Given the description of an element on the screen output the (x, y) to click on. 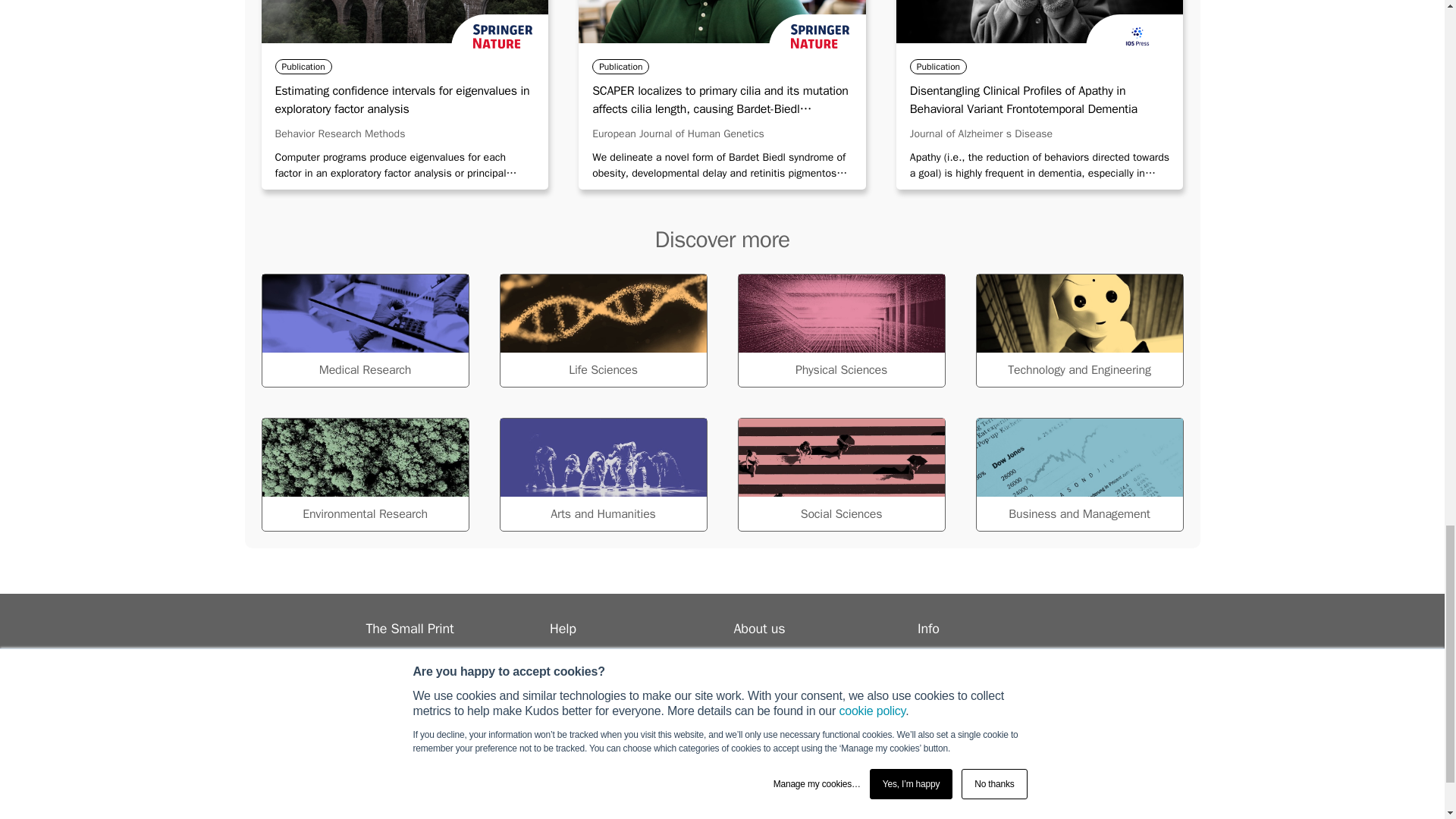
Contact us (577, 708)
Technology and Engineering (1078, 330)
Journal of Alzheimer s Disease (981, 133)
European Journal of Human Genetics (678, 133)
Life Sciences (602, 330)
Arts and Humanities (602, 474)
Physical Sciences (840, 330)
User guide (577, 672)
FAQs (563, 690)
Privacy Policy (399, 672)
Service status (586, 654)
